Given the description of an element on the screen output the (x, y) to click on. 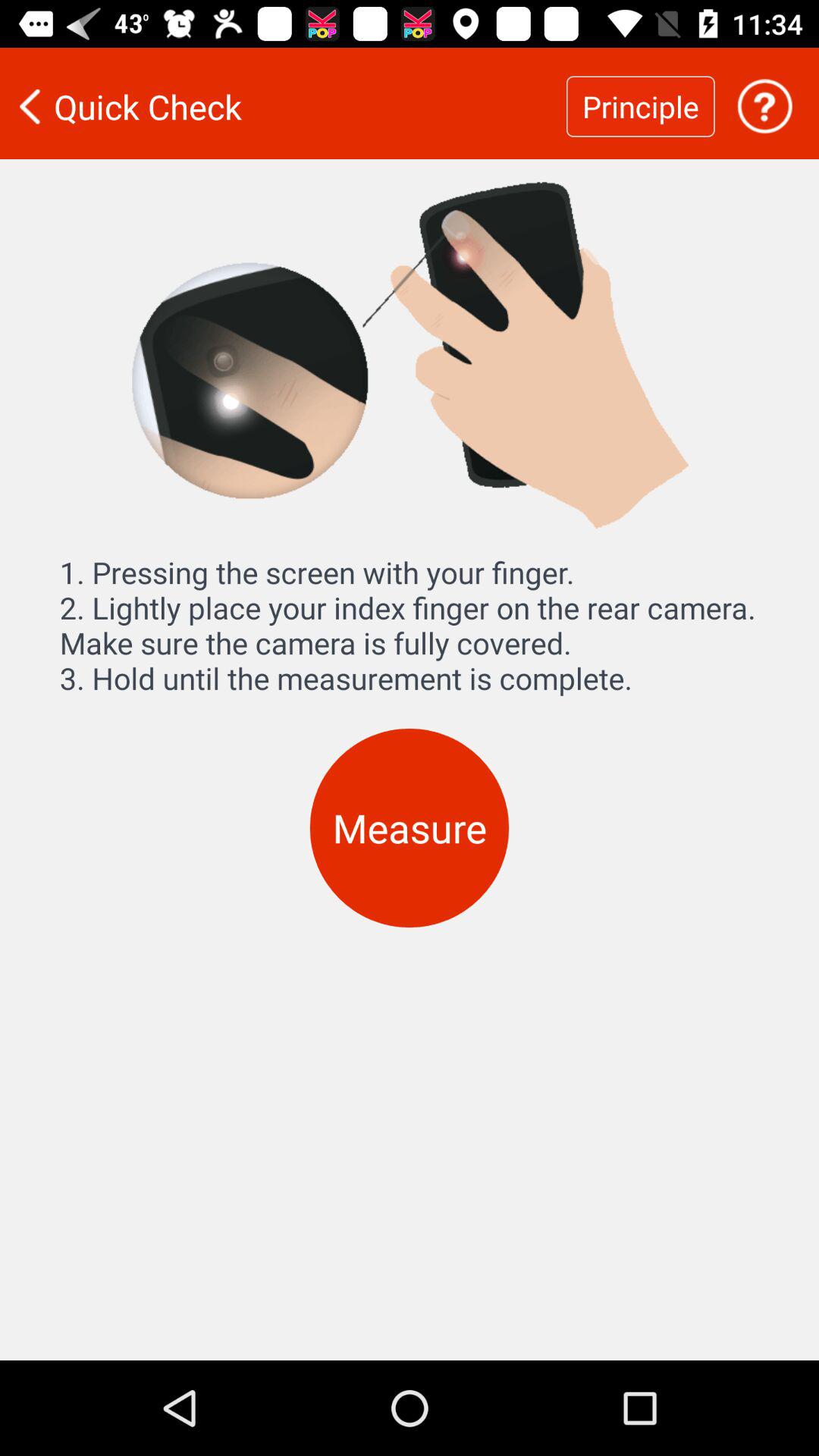
turn off the icon next to principle icon (283, 106)
